Given the description of an element on the screen output the (x, y) to click on. 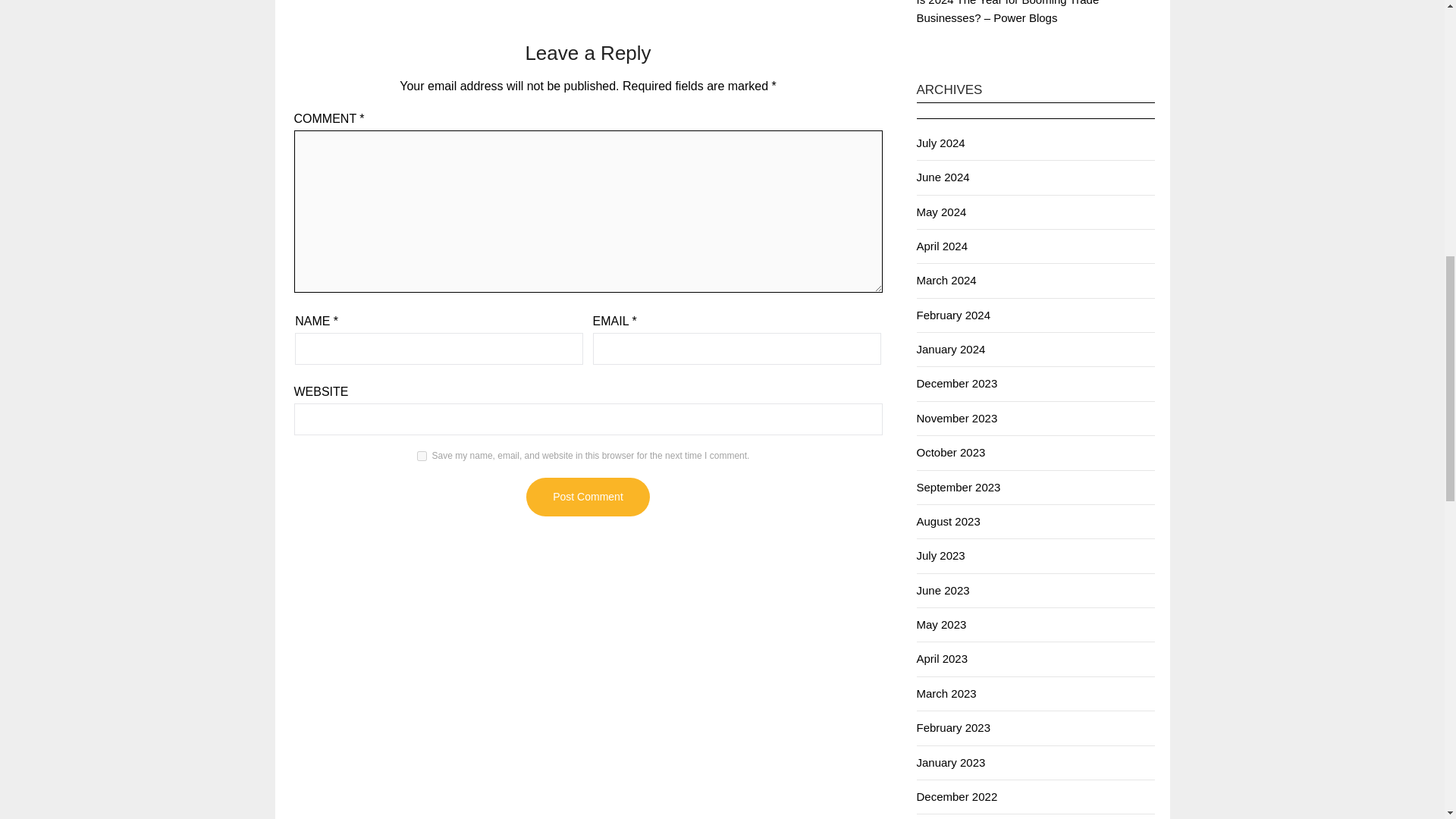
April 2024 (941, 245)
January 2023 (950, 762)
December 2023 (956, 382)
April 2023 (941, 658)
Post Comment (587, 496)
May 2024 (940, 211)
June 2023 (942, 590)
August 2023 (947, 521)
September 2023 (957, 486)
July 2024 (939, 142)
February 2023 (952, 727)
February 2024 (952, 314)
December 2022 (956, 796)
May 2023 (940, 624)
November 2023 (956, 418)
